Given the description of an element on the screen output the (x, y) to click on. 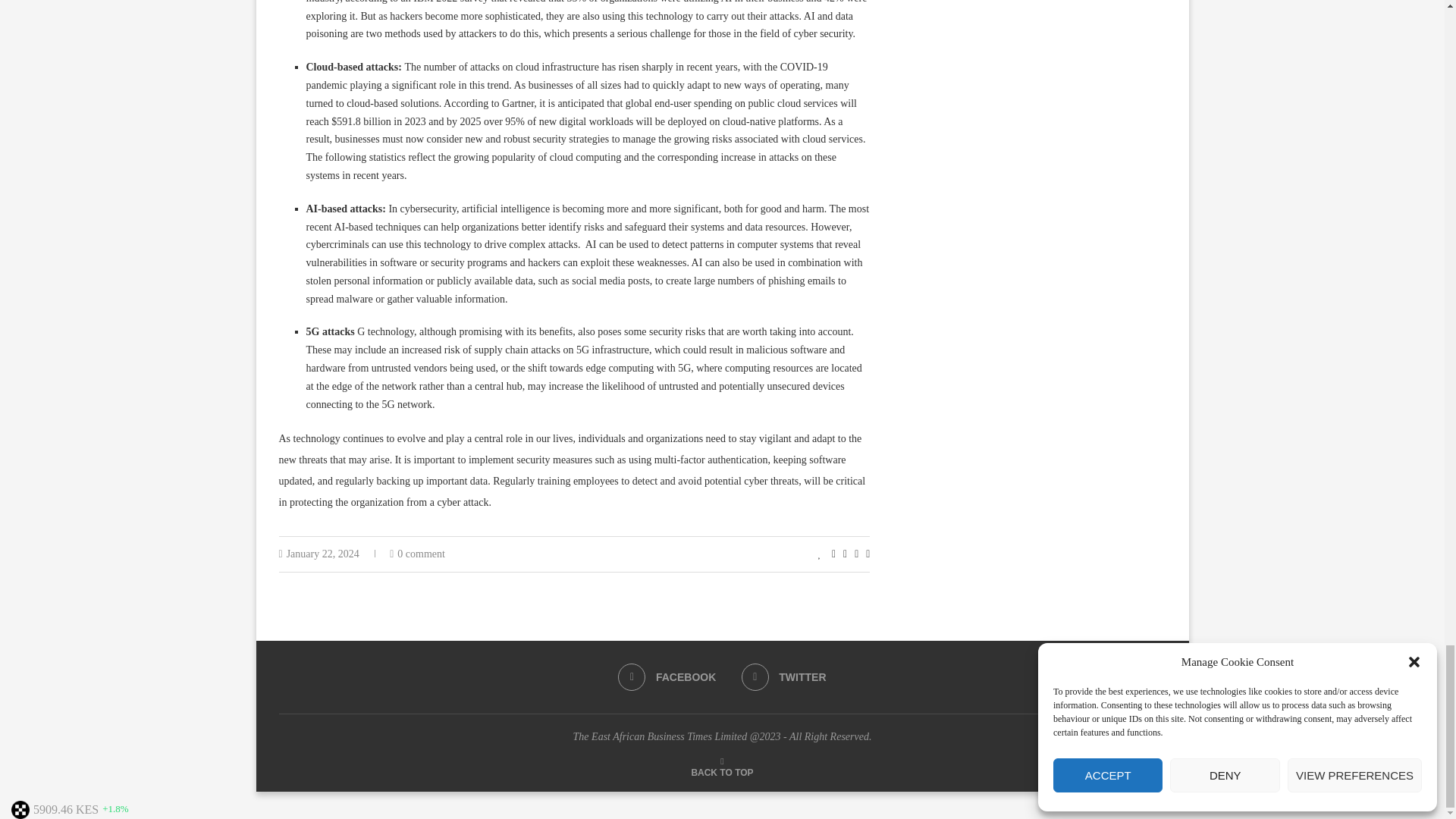
Like (820, 553)
